Given the description of an element on the screen output the (x, y) to click on. 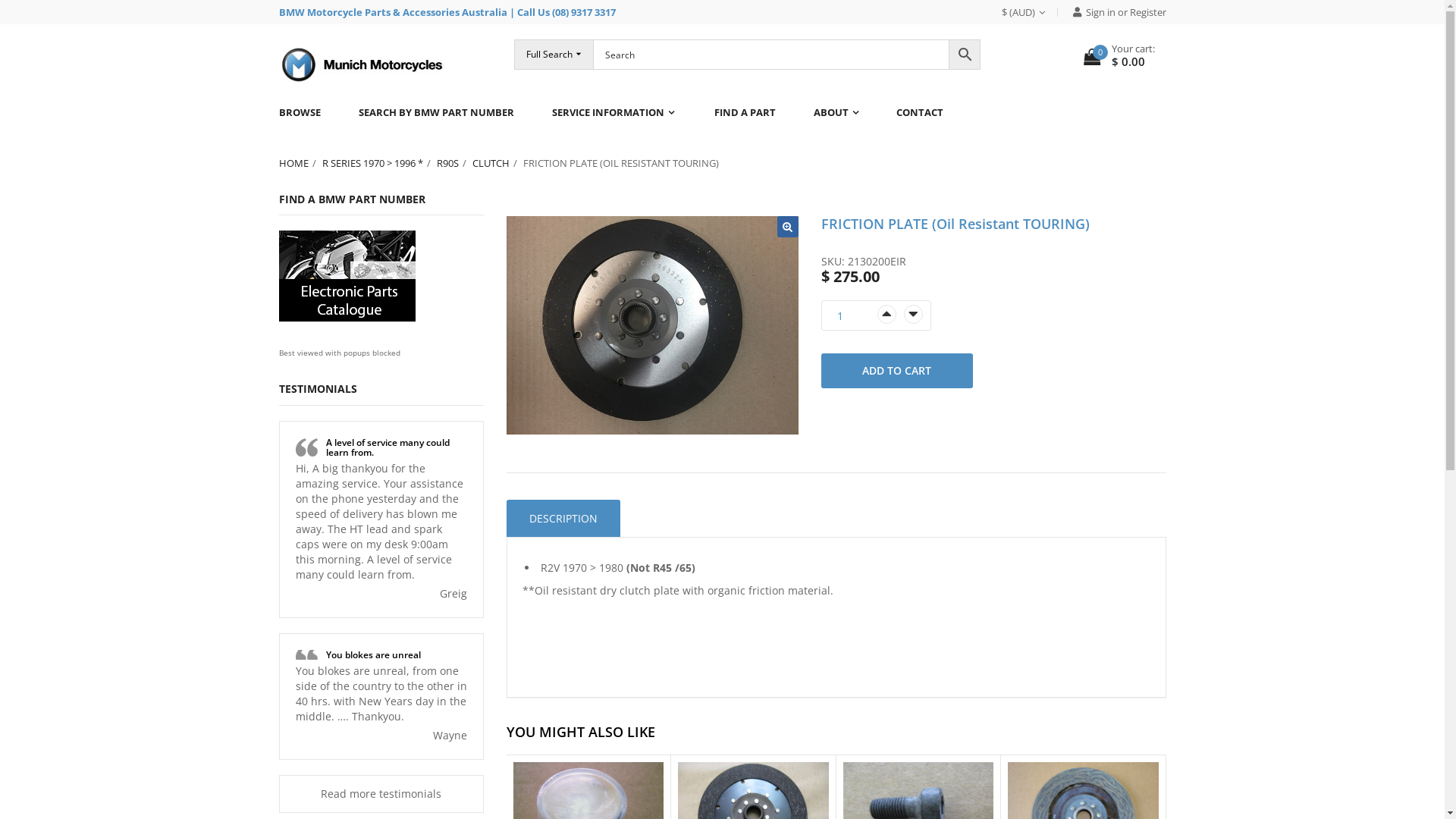
| Call Us (08) 9317 3317 Element type: text (562, 12)
DESCRIPTION Element type: text (563, 518)
ABOUT Element type: text (835, 112)
Sign in or Register Element type: text (1113, 12)
ADD TO CART Element type: text (896, 370)
R90S Element type: text (454, 162)
SERVICE INFORMATION Element type: text (612, 112)
HOME Element type: text (300, 162)
$ (AUD) Element type: text (1029, 12)
R SERIES 1970 > 1996 * Element type: text (378, 162)
 FIND A PART Element type: text (743, 112)
CONTACT Element type: text (918, 112)
Read more testimonials Element type: text (380, 793)
BROWSE Element type: text (309, 112)
CLUTCH Element type: text (496, 162)
Qty Element type: hover (850, 315)
0
Your cart:
$ 0.00 Element type: text (1118, 56)
BMW Motorcycle Parts & Accessories Australia Element type: text (393, 12)
SEARCH BY BMW PART NUMBER Element type: text (436, 112)
